Given the description of an element on the screen output the (x, y) to click on. 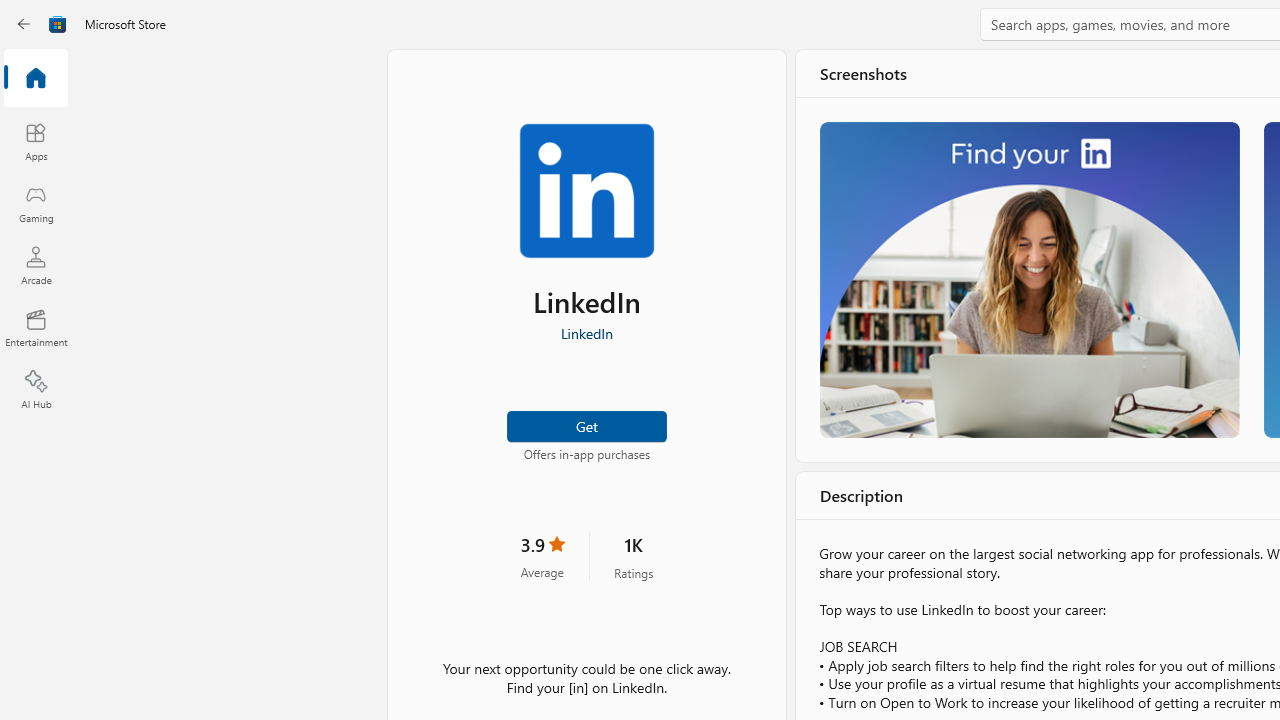
Get (586, 424)
3.9 stars. Click to skip to ratings and reviews (542, 556)
Screenshot 1 (1029, 279)
LinkedIn (585, 333)
Back (24, 24)
